Given the description of an element on the screen output the (x, y) to click on. 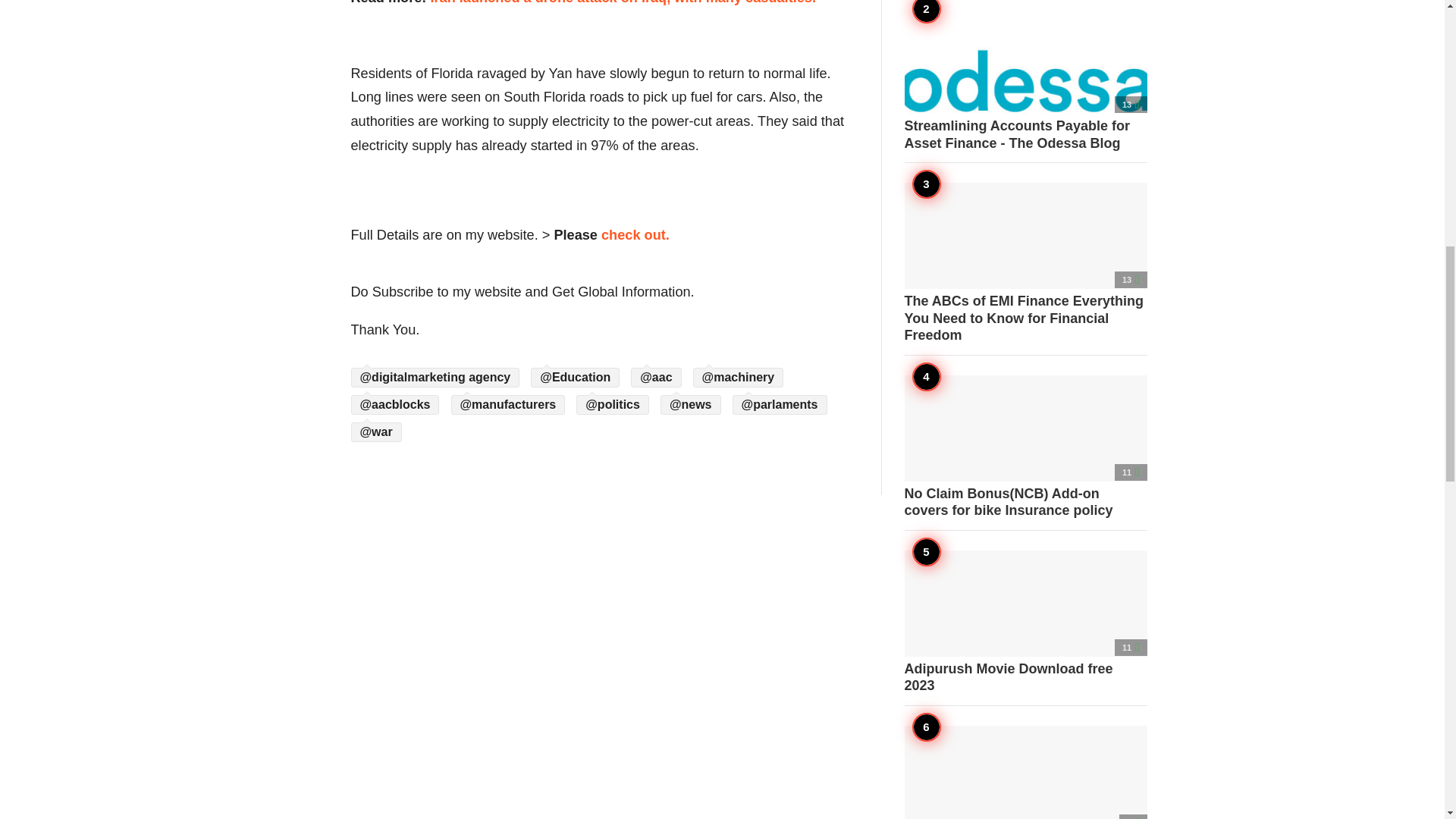
Managing Your Business Finances A Guide to Stay Organised (1025, 771)
Adipurush Movie Download free 2023 (1025, 622)
